Given the description of an element on the screen output the (x, y) to click on. 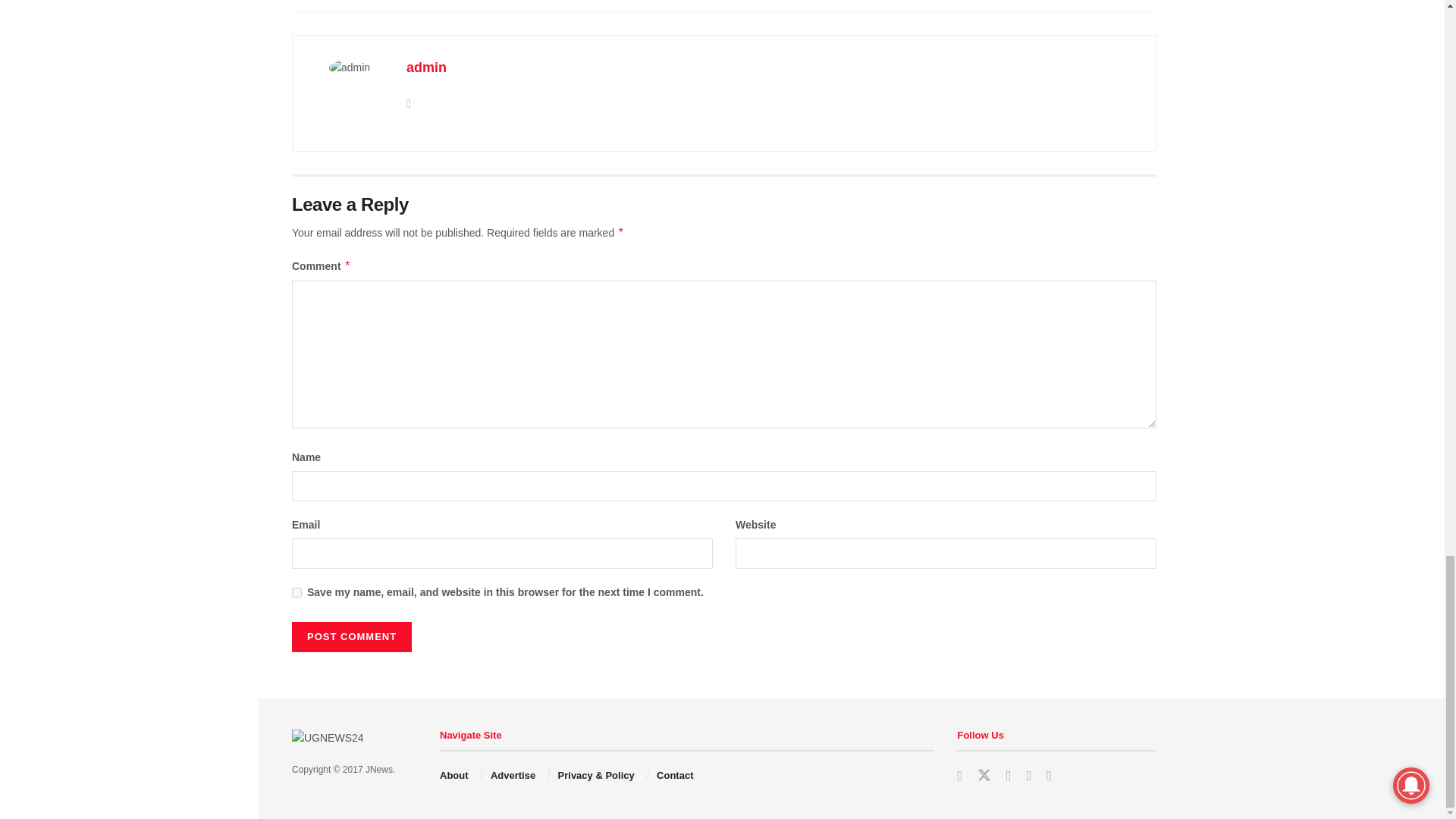
yes (296, 592)
Post Comment (352, 636)
